Given the description of an element on the screen output the (x, y) to click on. 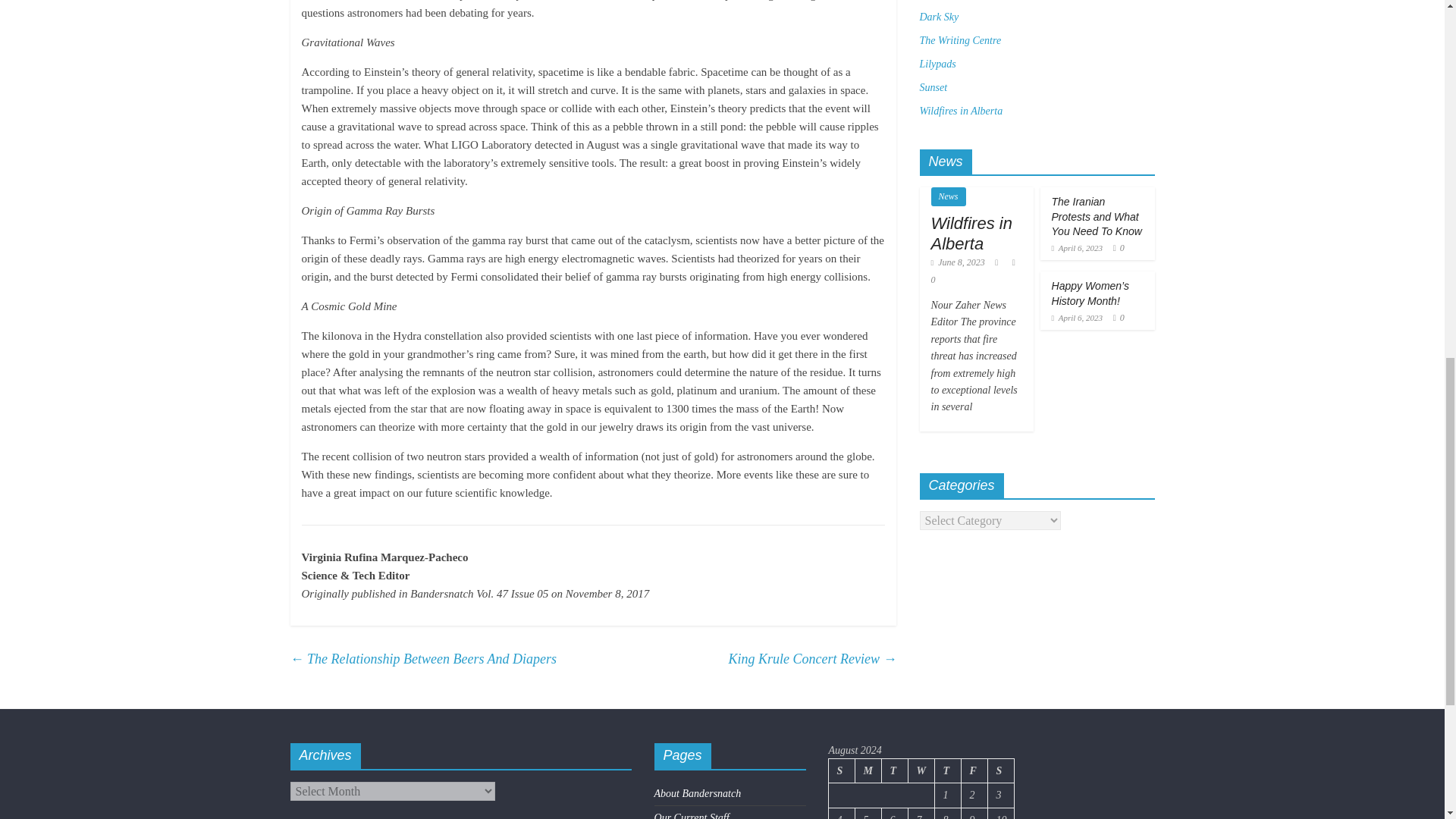
Wildfires in Alberta (971, 232)
8:30 am (1077, 247)
The Iranian Protests and What You Need To Know (1096, 216)
8:30 am (1077, 317)
9:34 am (958, 262)
